Given the description of an element on the screen output the (x, y) to click on. 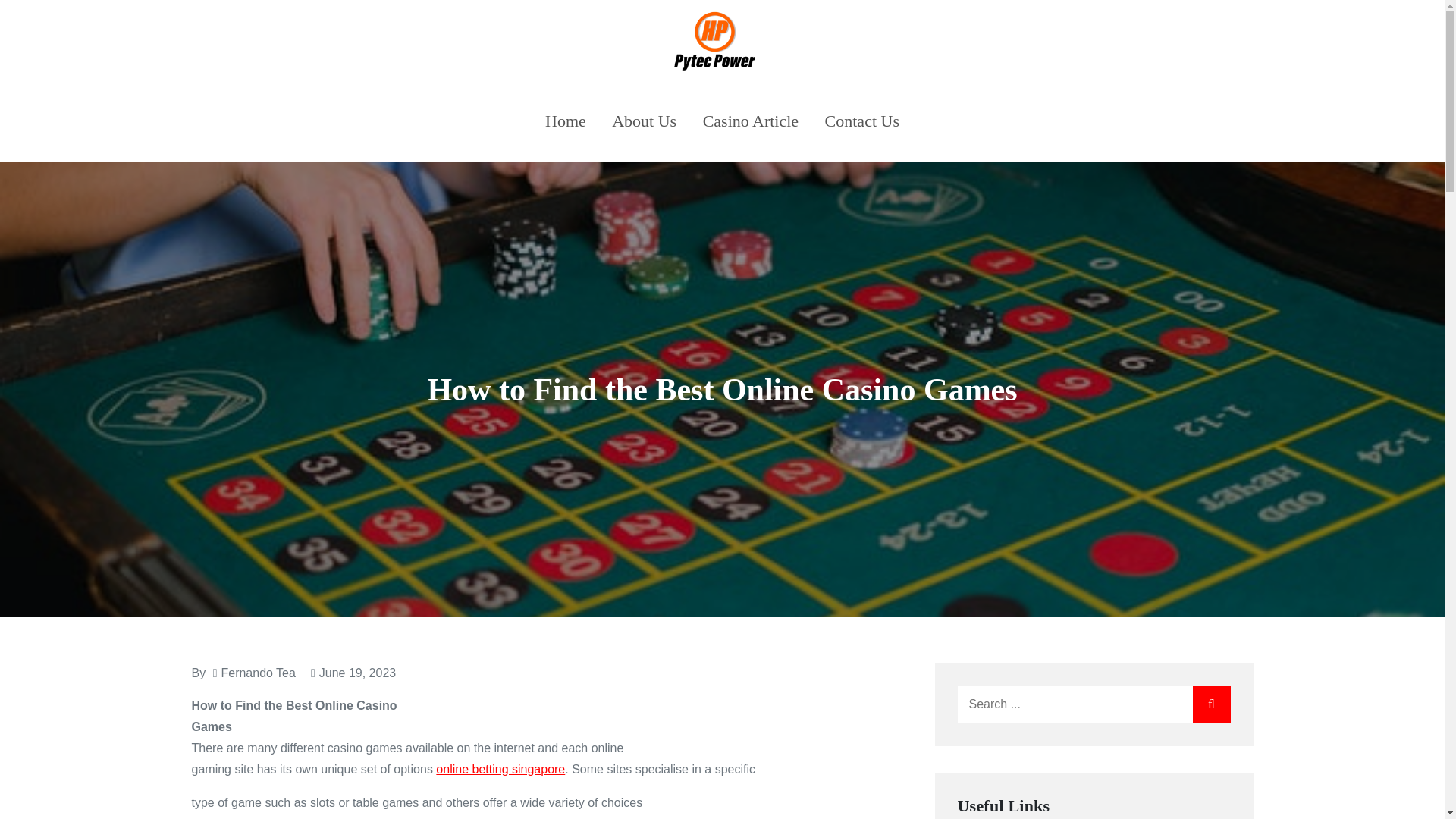
Home (565, 120)
Casino Article (750, 120)
Search for: (1093, 704)
online betting singapore (499, 768)
Hytec Power (850, 56)
Fernando Tea (258, 672)
June 19, 2023 (353, 672)
Search (1211, 704)
About Us (644, 120)
Contact Us (862, 120)
